Given the description of an element on the screen output the (x, y) to click on. 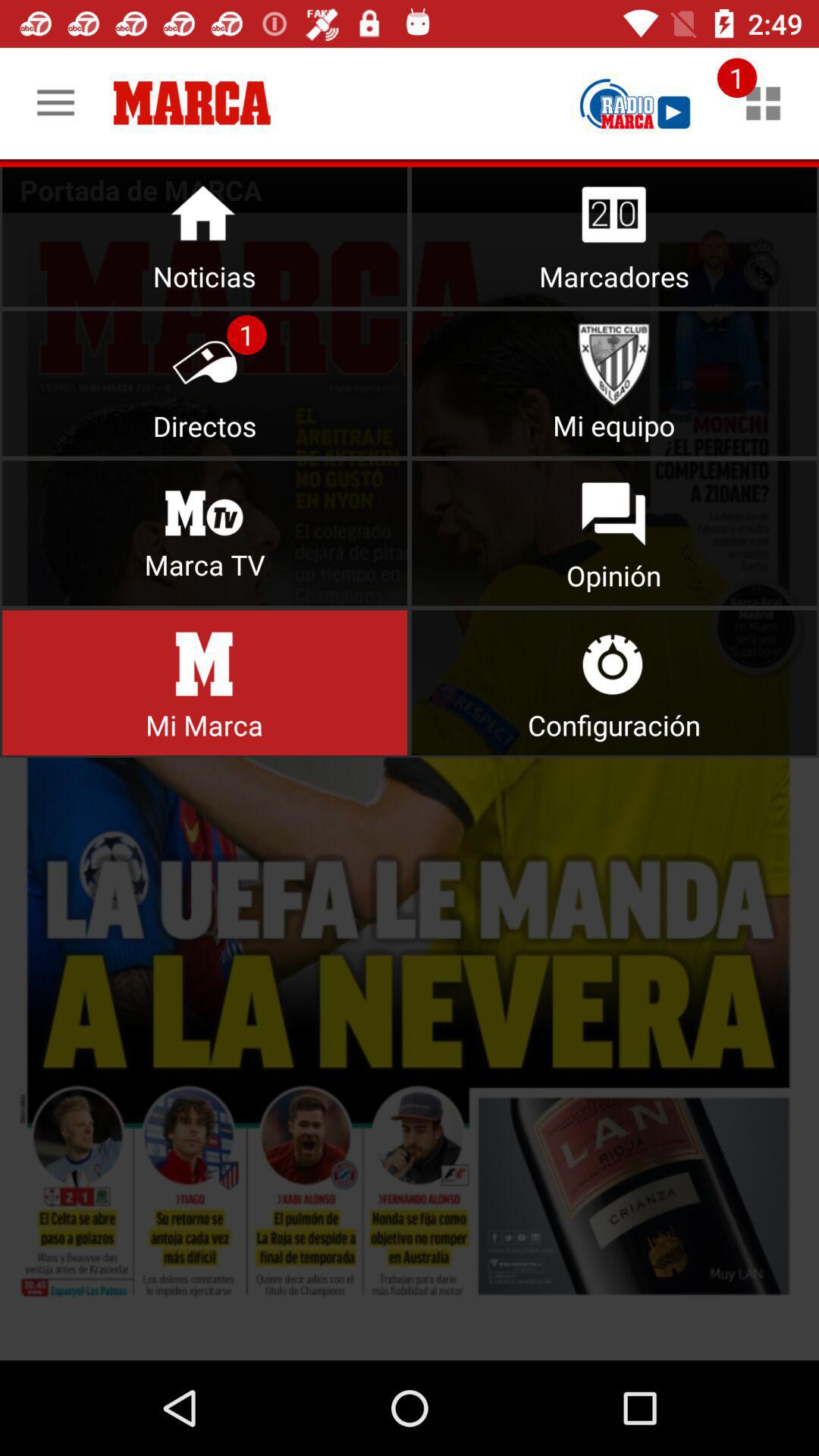
opinion toggle (614, 532)
